Given the description of an element on the screen output the (x, y) to click on. 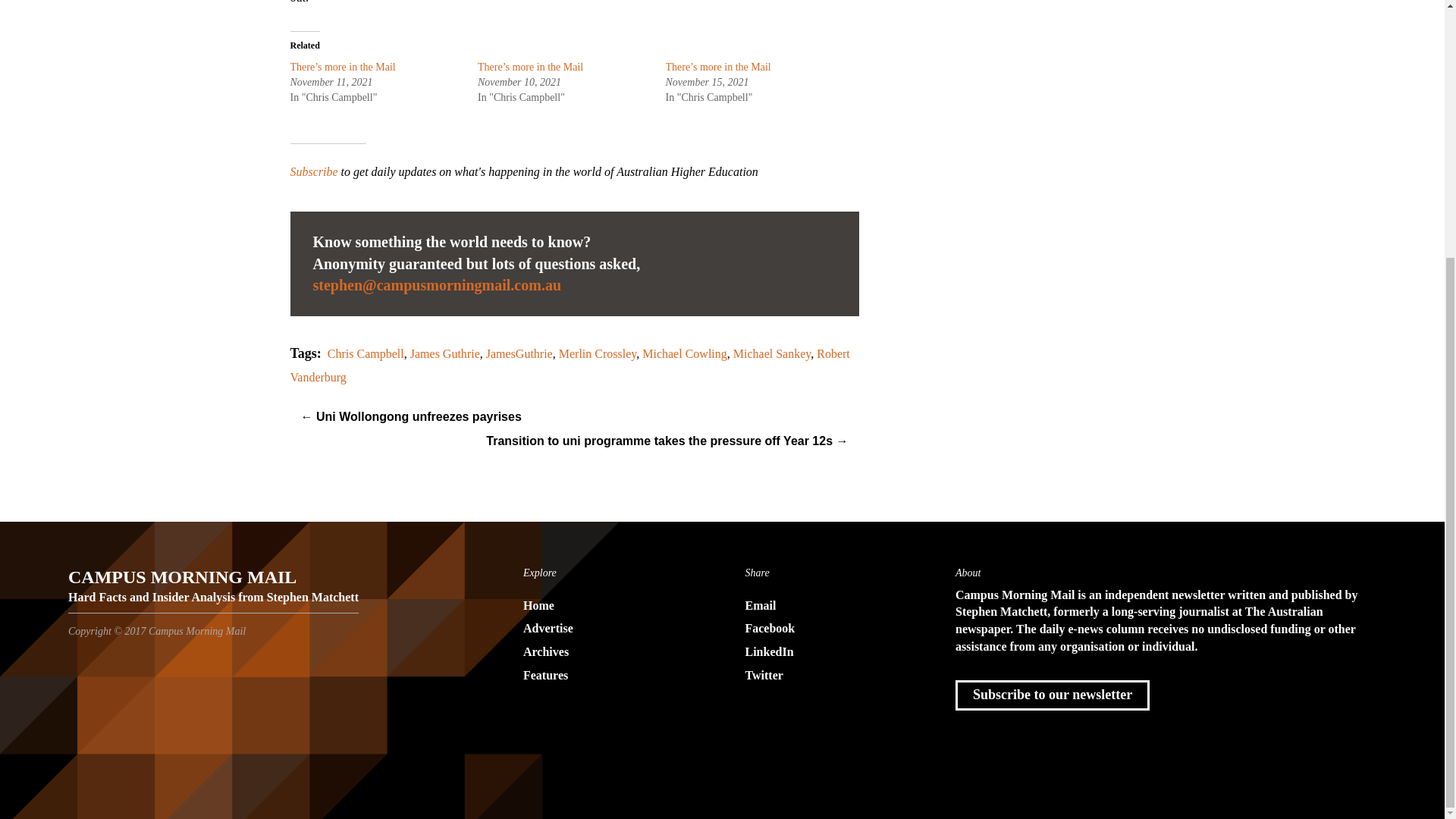
Home (611, 606)
Email (436, 284)
JamesGuthrie (519, 353)
James Guthrie (445, 353)
Email (833, 606)
Facebook (833, 628)
Advertise (611, 628)
Michael Cowling (684, 353)
Features (611, 675)
Michael Sankey (771, 353)
Campus Morning Mail (213, 582)
Robert Vanderburg (568, 365)
Merlin Crossley (598, 353)
Chris Campbell (365, 353)
